Given the description of an element on the screen output the (x, y) to click on. 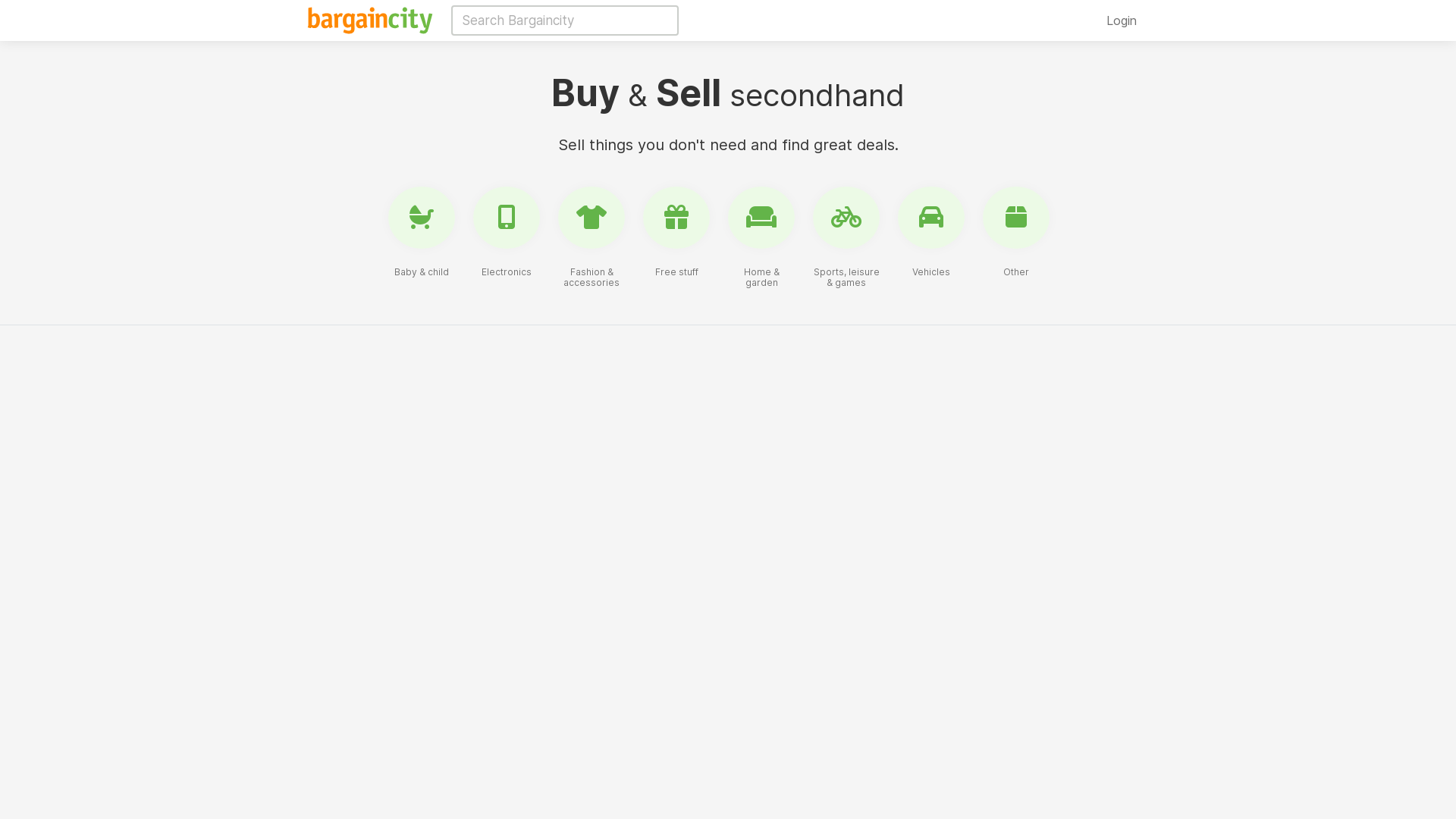
Login Element type: text (1121, 20)
